Given the description of an element on the screen output the (x, y) to click on. 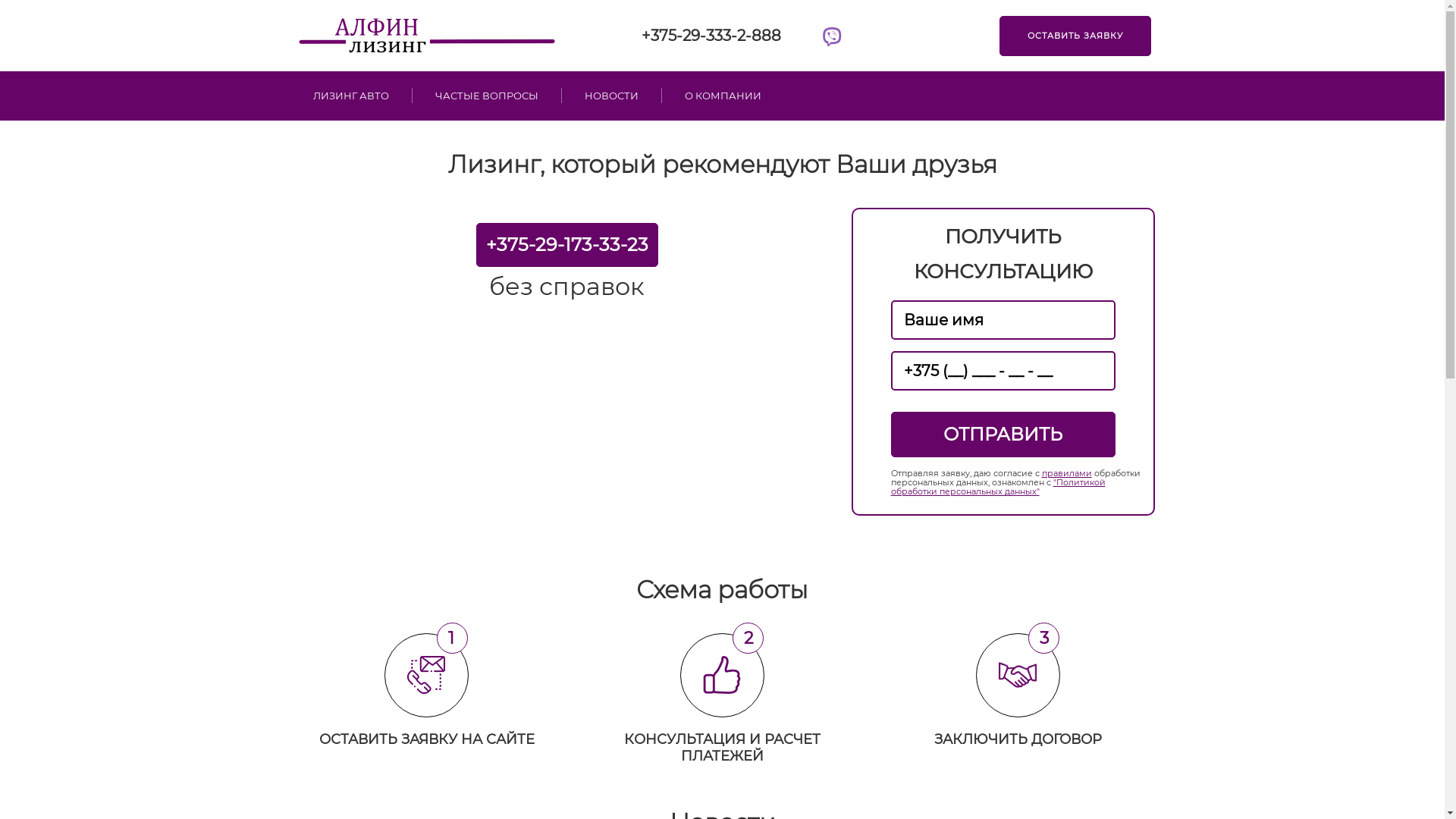
Viber Element type: hover (831, 38)
+375-29-173-33-23 Element type: text (567, 244)
+375-29-333-2-888 Element type: text (711, 35)
